Given the description of an element on the screen output the (x, y) to click on. 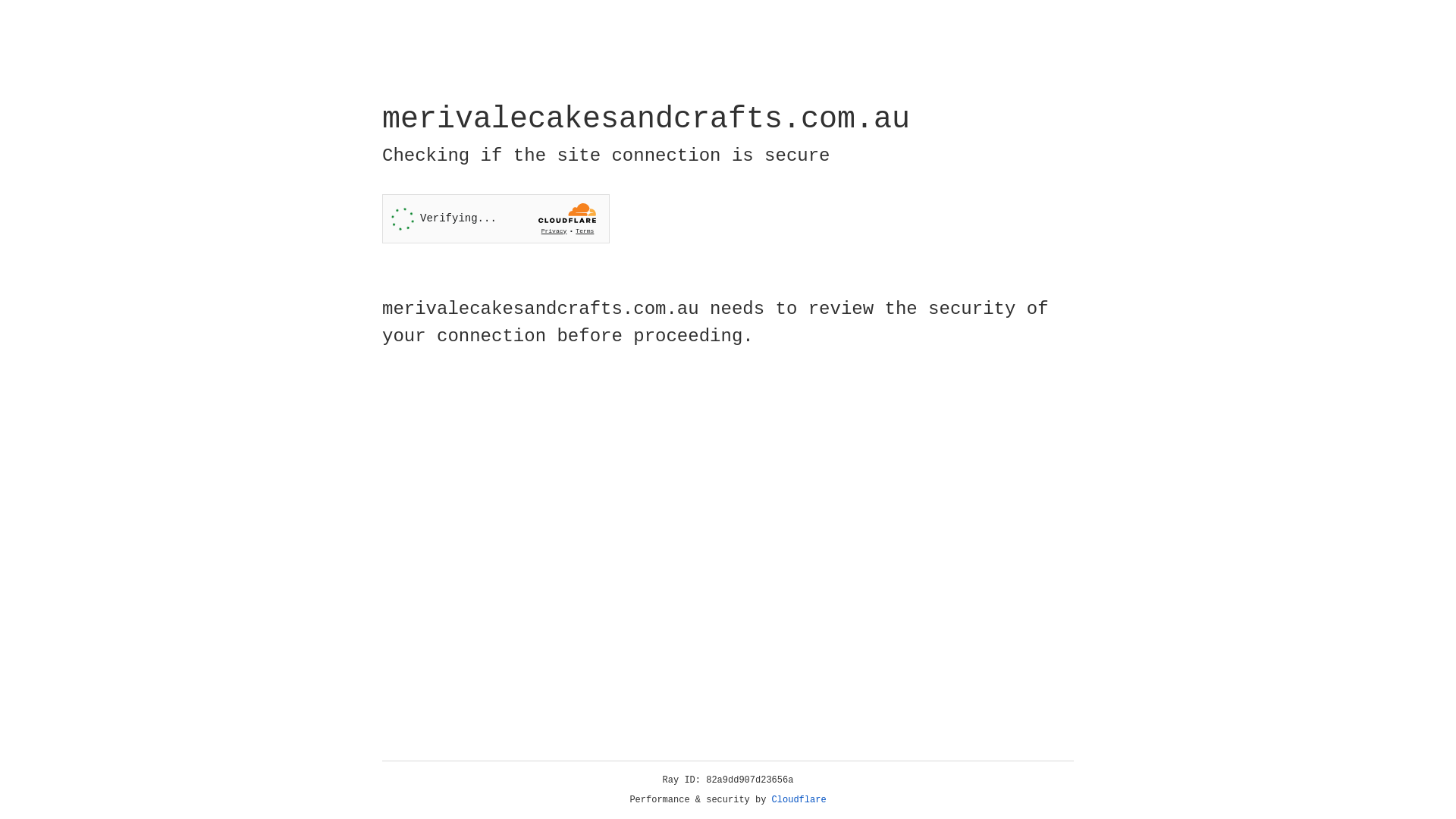
Cloudflare Element type: text (798, 799)
Widget containing a Cloudflare security challenge Element type: hover (495, 218)
